Given the description of an element on the screen output the (x, y) to click on. 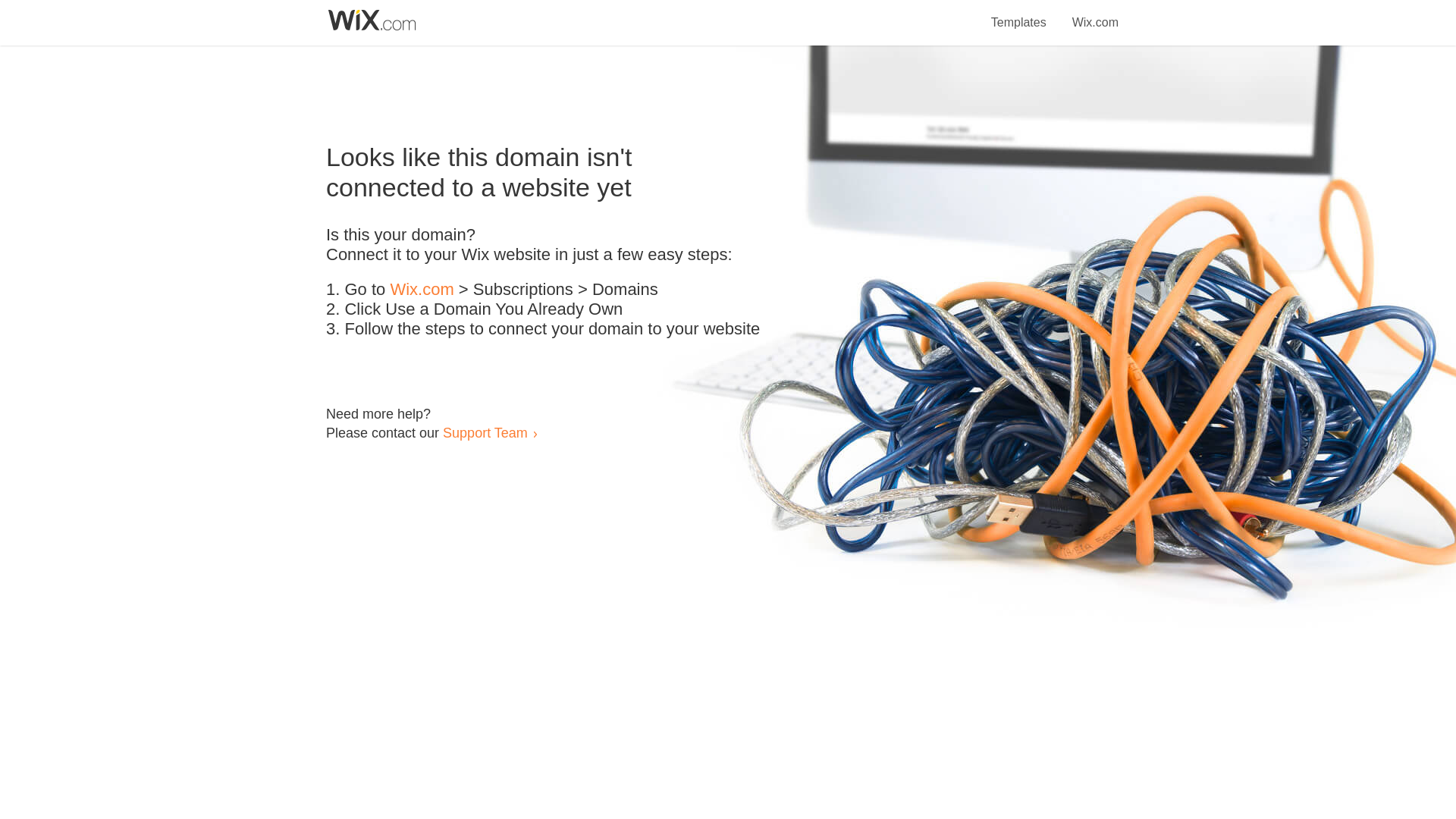
Wix.com (421, 289)
Support Team (484, 432)
Templates (1018, 14)
Wix.com (1095, 14)
